Given the description of an element on the screen output the (x, y) to click on. 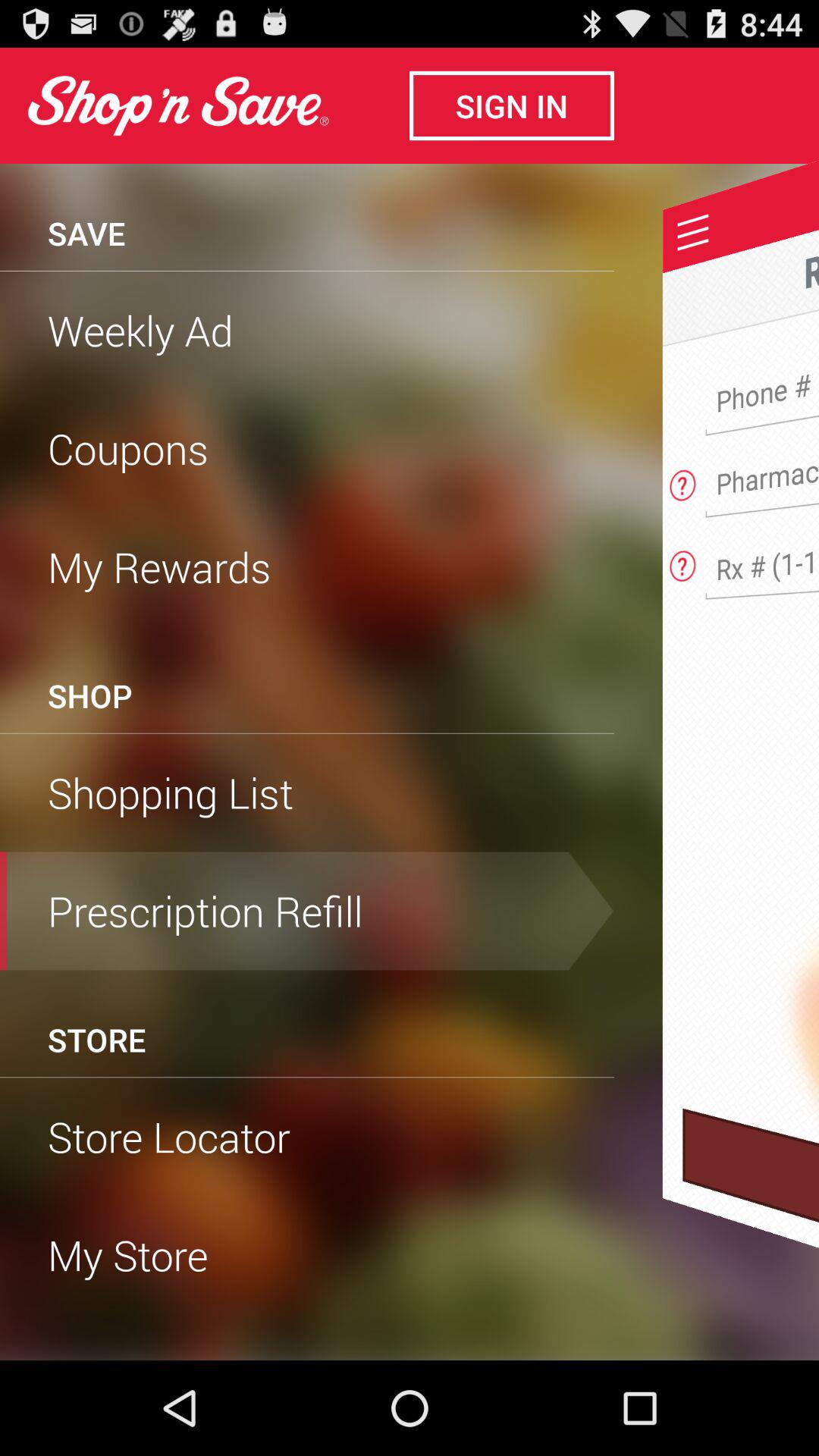
scroll to the store locator item (307, 1136)
